Given the description of an element on the screen output the (x, y) to click on. 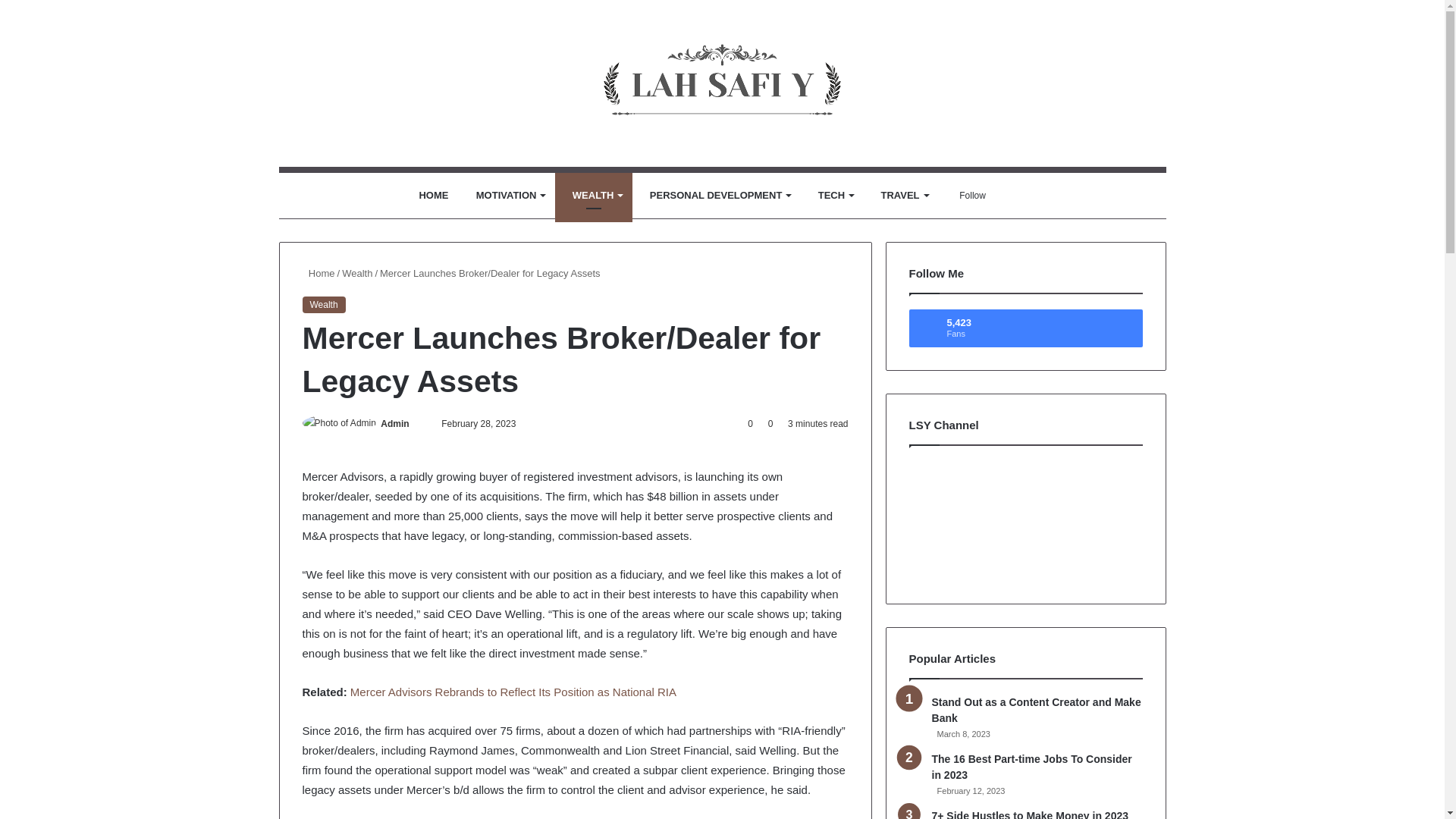
WEALTH (592, 195)
PERSONAL DEVELOPMENT (715, 195)
Admin (394, 423)
Home (317, 272)
MOTIVATION (506, 195)
Wealth (323, 303)
Admin (394, 423)
My Blog (722, 83)
HOME (429, 195)
